Given the description of an element on the screen output the (x, y) to click on. 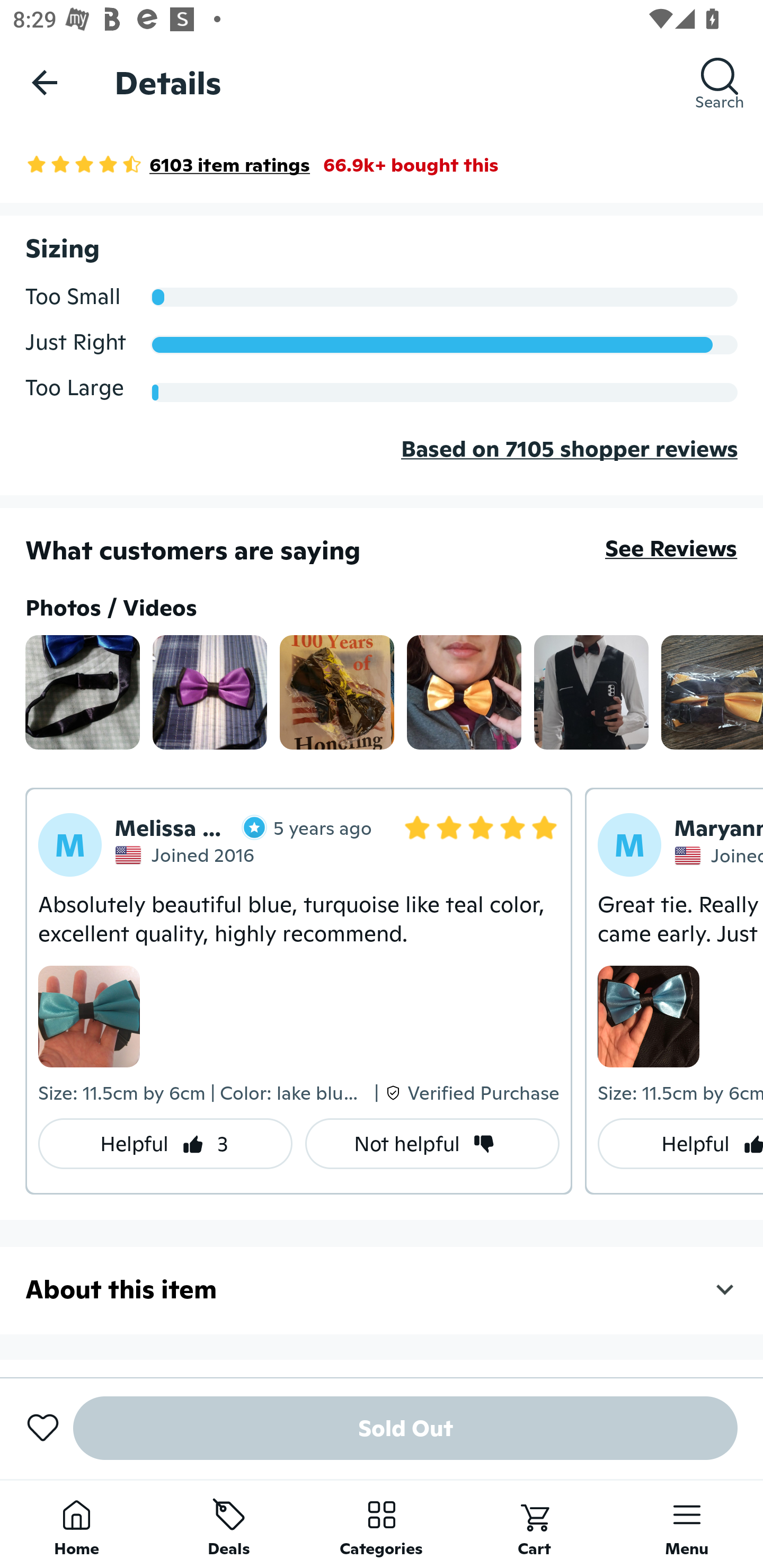
Navigate up (44, 82)
Search (719, 82)
4.4 Star Rating 6103 item ratings (167, 164)
Based on 7105 shopper reviews (381, 463)
See Reviews (671, 547)
M (69, 844)
Melissa Dawn (190, 827)
M (629, 844)
Maryanna (718, 828)
Joined 2016  (186, 854)
Joined 2018  (718, 855)
Helpful 3 (165, 1143)
Not helpful (432, 1143)
Helpful (680, 1143)
About this item (381, 1288)
Sold Out (405, 1428)
Home (76, 1523)
Deals (228, 1523)
Categories (381, 1523)
Cart (533, 1523)
Menu (686, 1523)
